Given the description of an element on the screen output the (x, y) to click on. 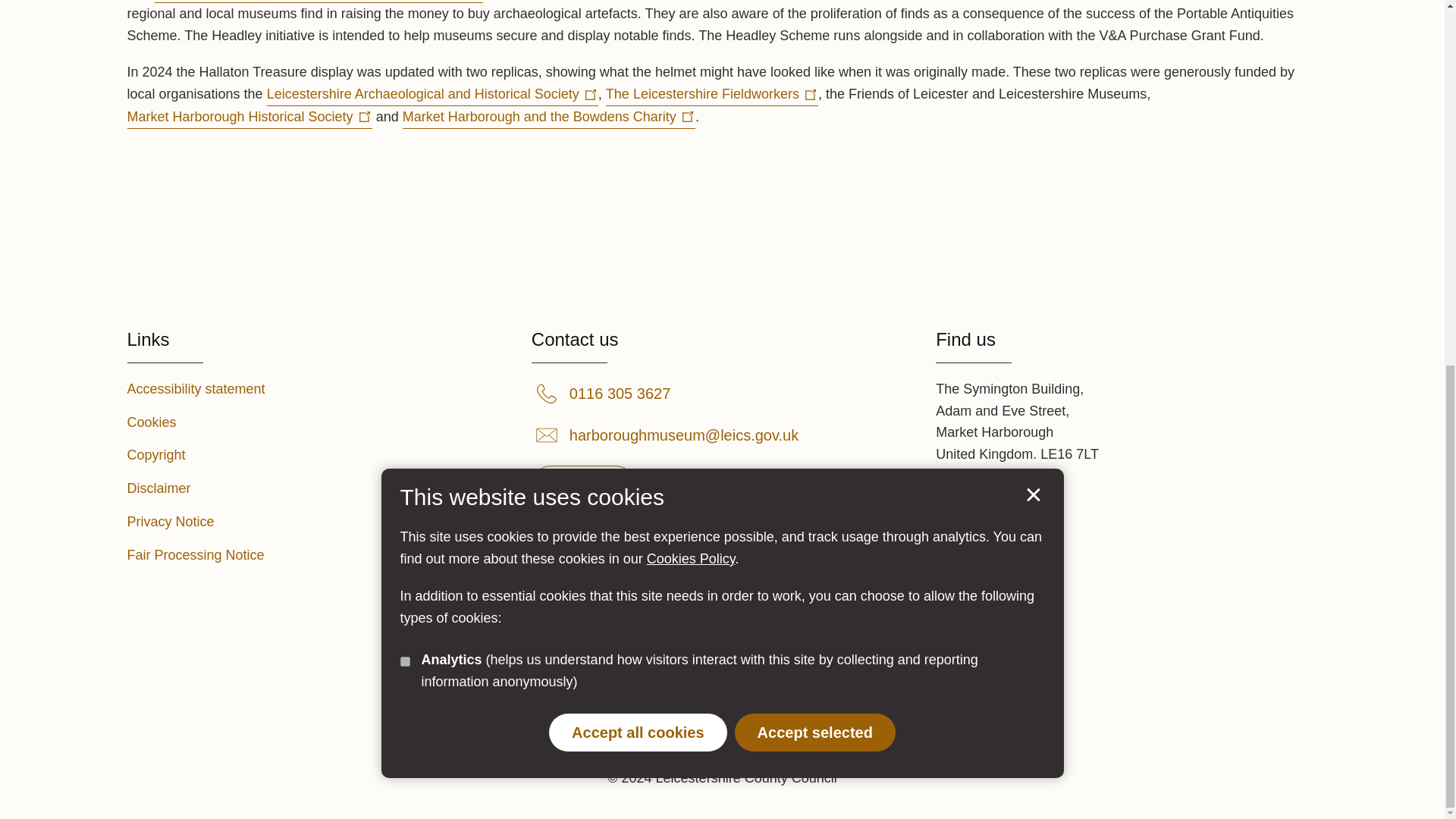
Accept all cookies (637, 75)
Accept selected (815, 75)
stats (405, 4)
